Given the description of an element on the screen output the (x, y) to click on. 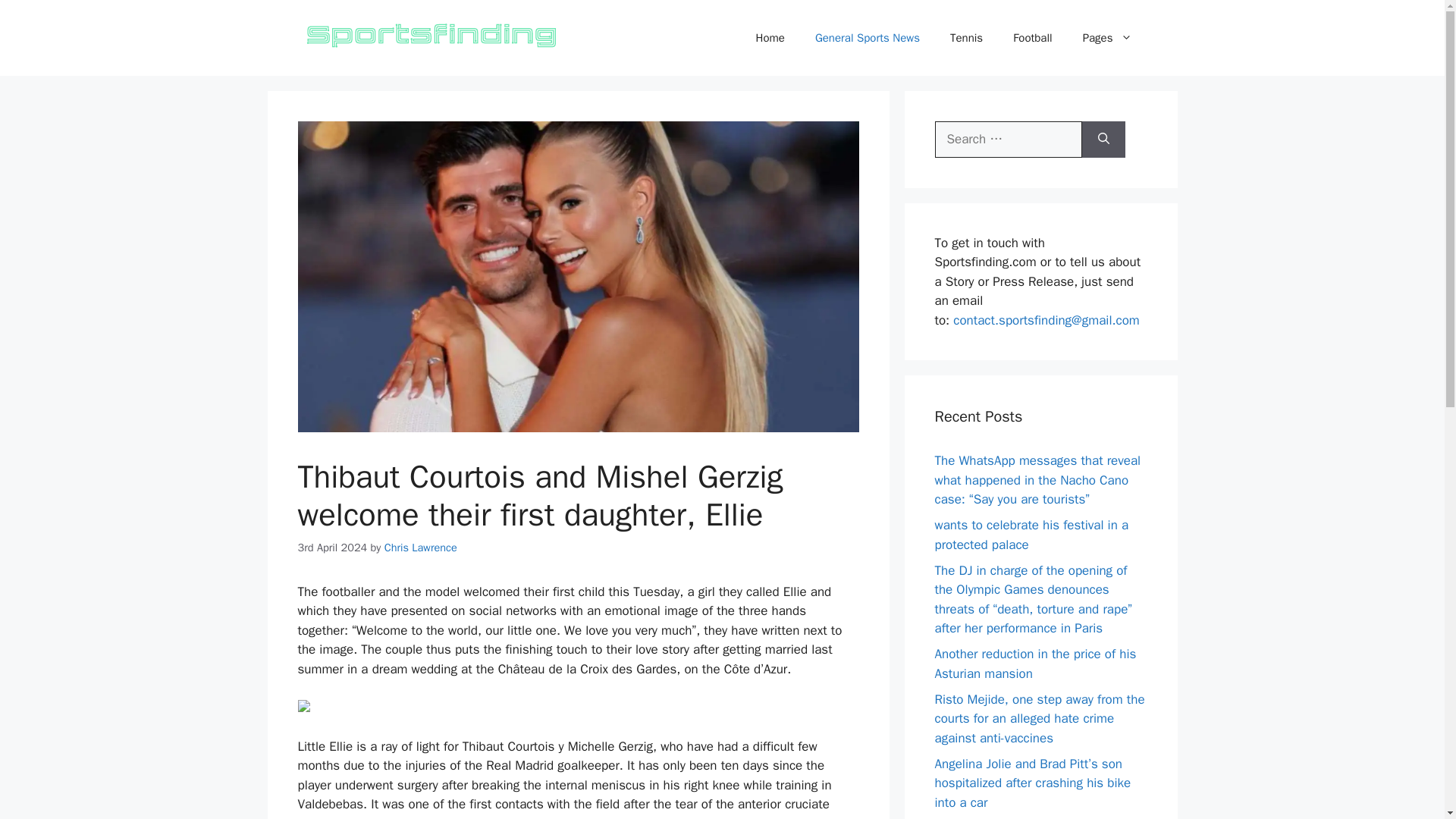
View all posts by Chris Lawrence (420, 547)
Search for: (1007, 139)
Chris Lawrence (420, 547)
Football (1032, 37)
wants to celebrate his festival in a protected palace (1031, 534)
Home (770, 37)
Another reduction in the price of his Asturian mansion (1034, 663)
General Sports News (866, 37)
Pages (1107, 37)
